Given the description of an element on the screen output the (x, y) to click on. 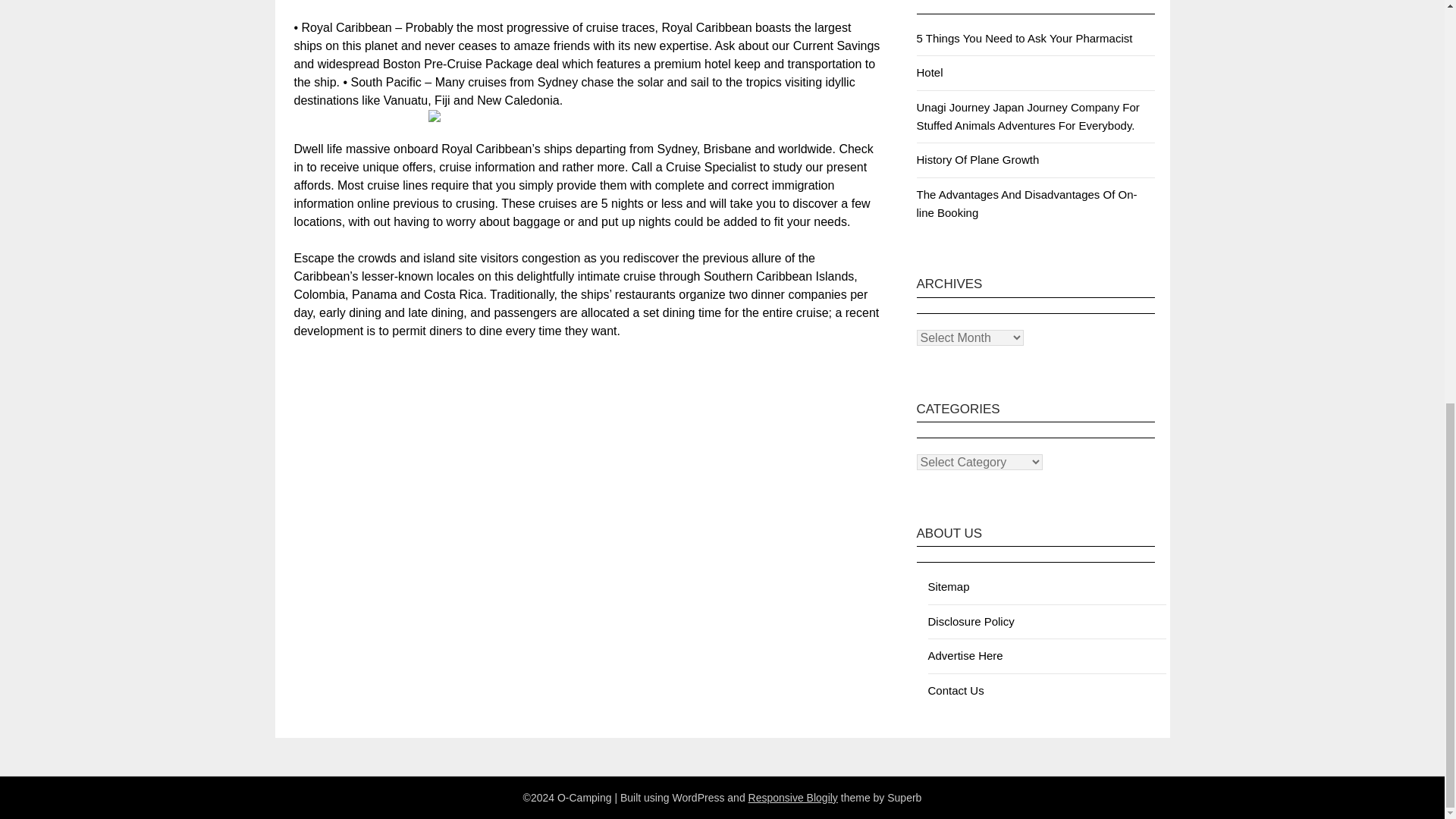
Hotel (928, 72)
5 Things You Need to Ask Your Pharmacist (1023, 38)
History Of Plane Growth (977, 159)
